Given the description of an element on the screen output the (x, y) to click on. 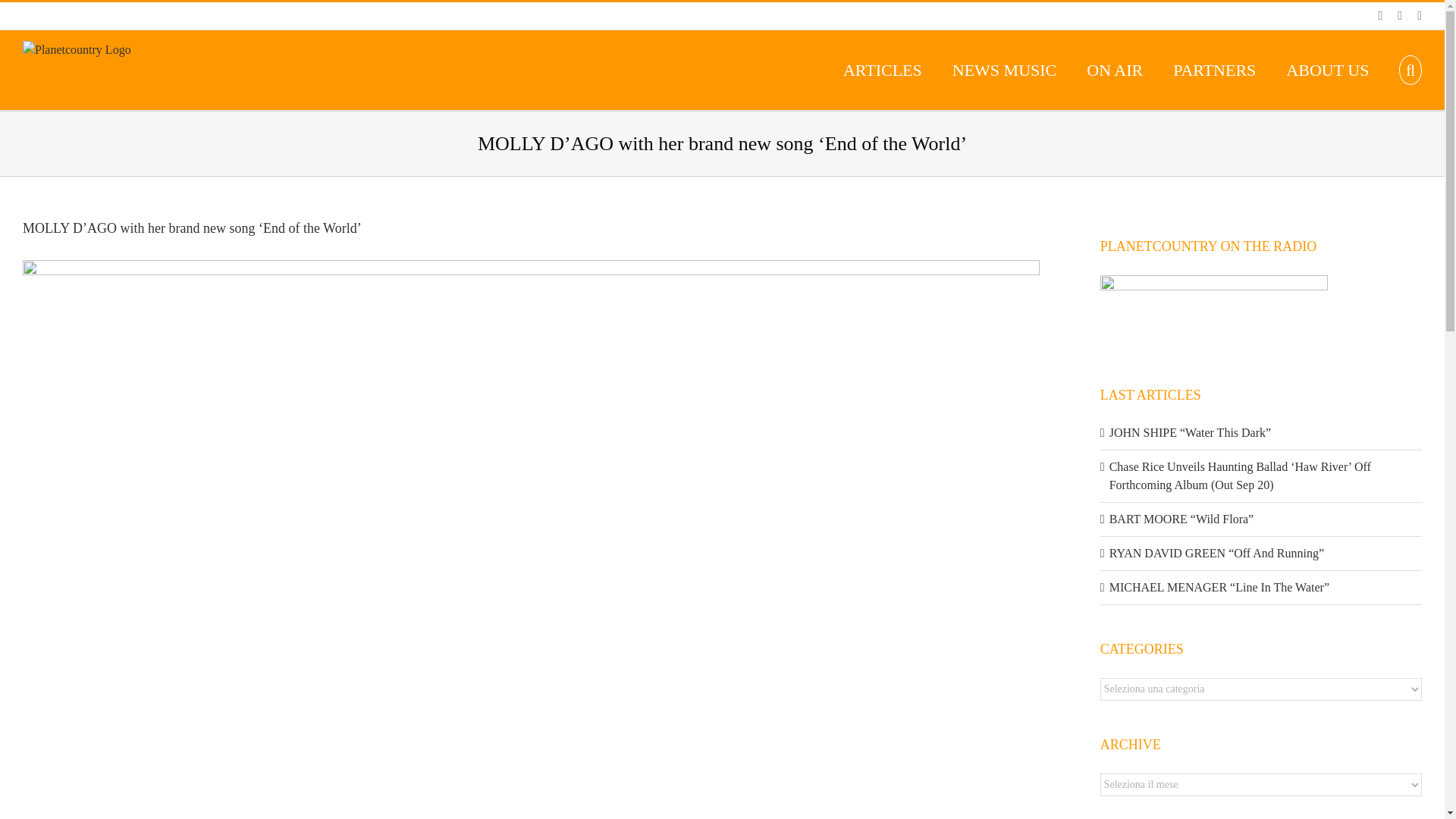
NEWS MUSIC (1004, 69)
PLANETCOUNTRY ON THE RADIO (1213, 313)
ABOUT US (1326, 69)
ARTICLES (882, 69)
PARTNERS (1214, 69)
